Given the description of an element on the screen output the (x, y) to click on. 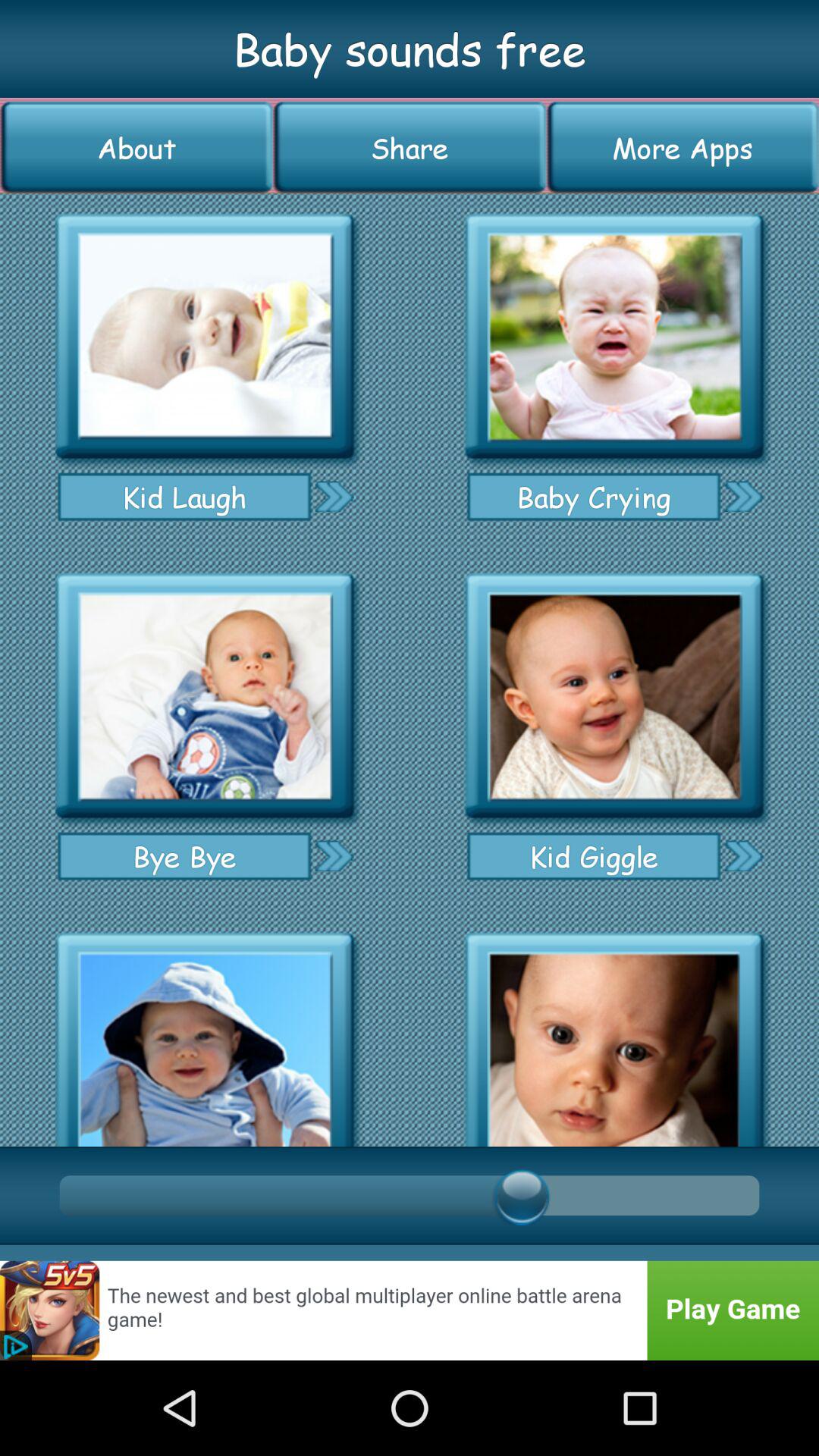
choose baby sound (204, 696)
